Given the description of an element on the screen output the (x, y) to click on. 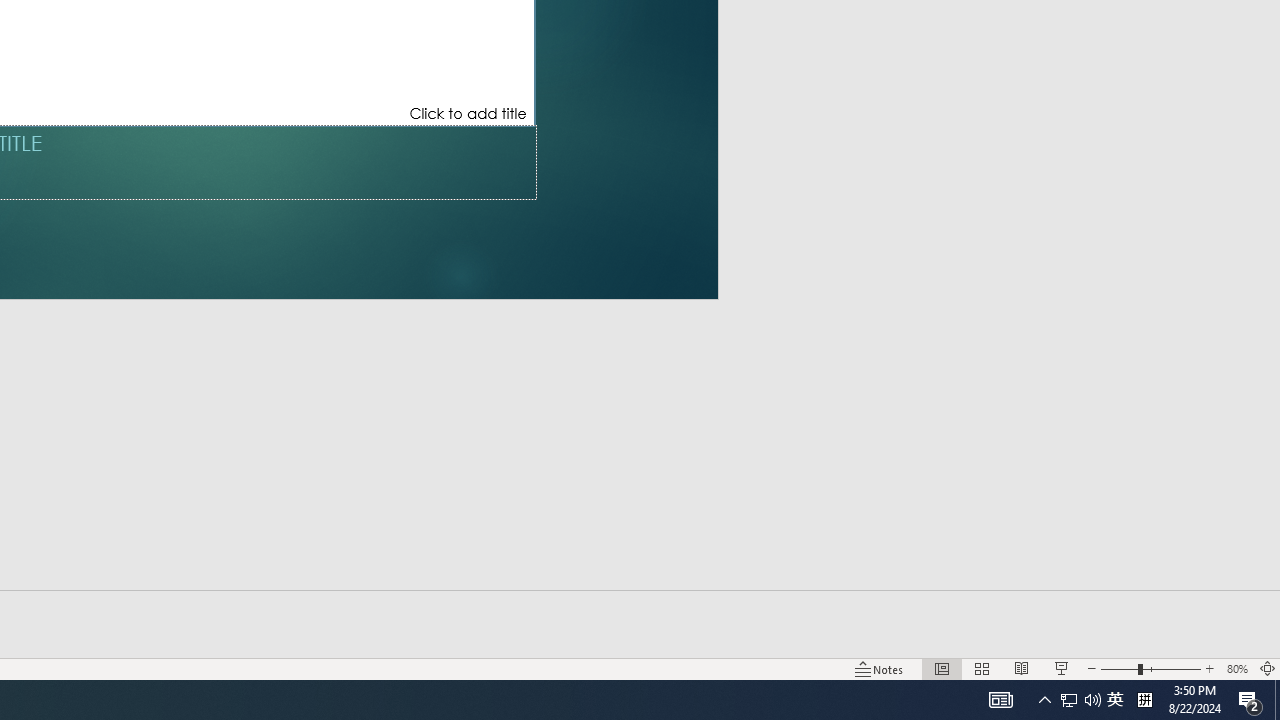
Normal (941, 668)
Zoom Out (1118, 668)
Reading View (1021, 668)
Zoom 80% (1236, 668)
Slide Sorter (982, 668)
Zoom to Fit  (1267, 668)
Zoom In (1209, 668)
Notes  (879, 668)
Zoom (1150, 668)
